Given the description of an element on the screen output the (x, y) to click on. 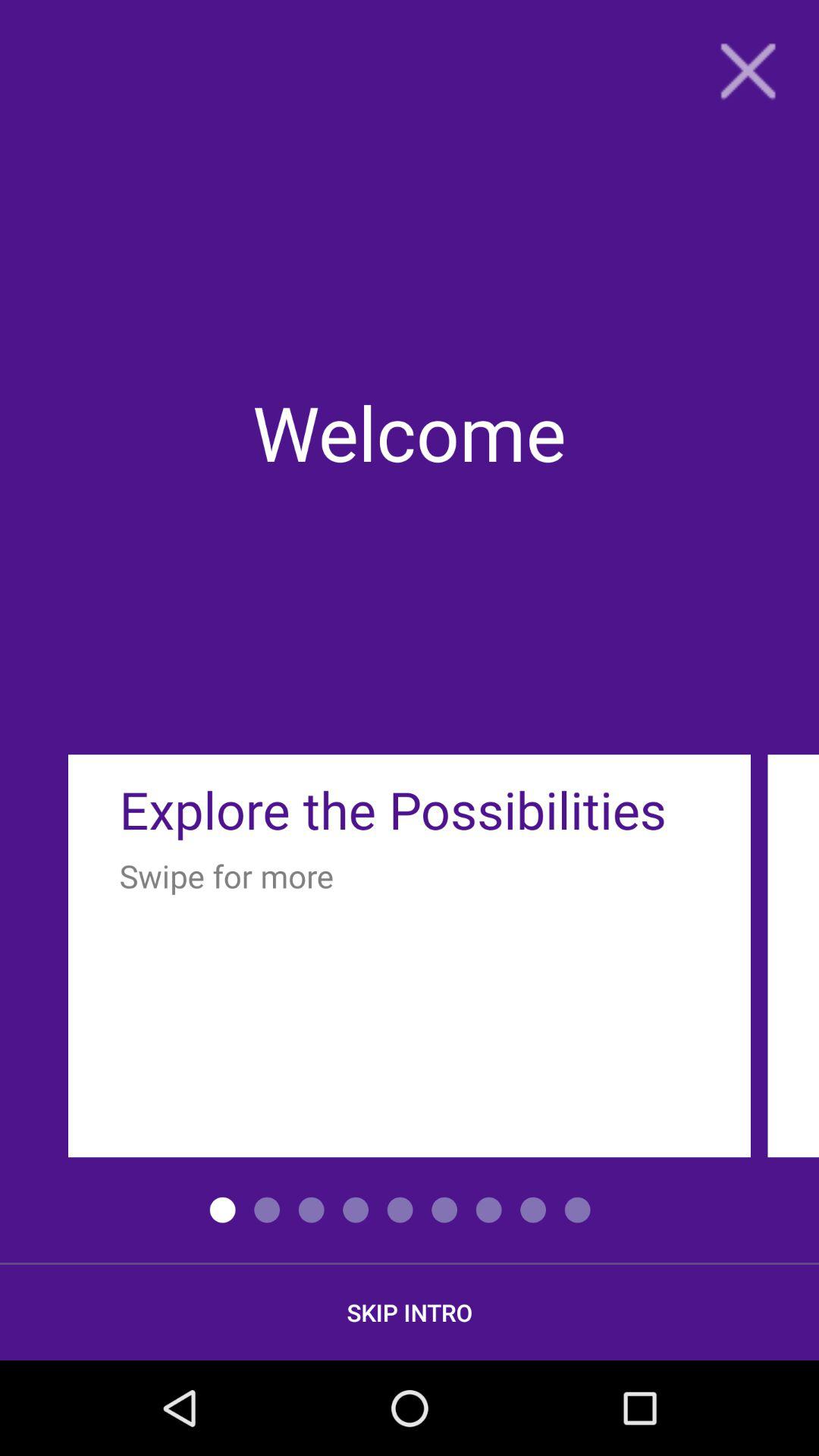
swipe until the skip intro icon (409, 1312)
